Given the description of an element on the screen output the (x, y) to click on. 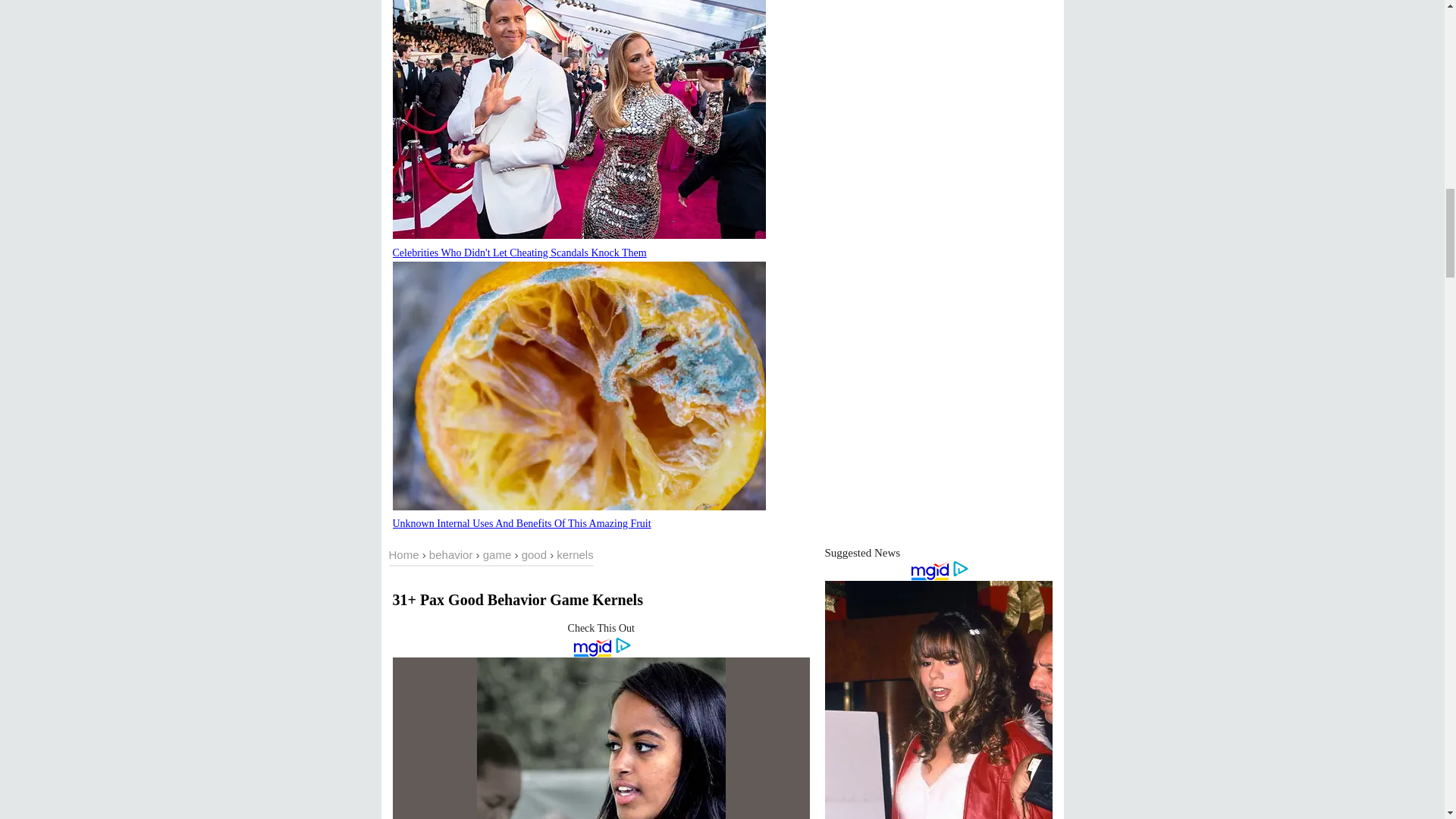
kernels (574, 554)
behavior (451, 554)
Home (403, 554)
Home (403, 554)
good (534, 554)
good (534, 554)
game (497, 554)
game (497, 554)
kernels (574, 554)
behavior (451, 554)
